Given the description of an element on the screen output the (x, y) to click on. 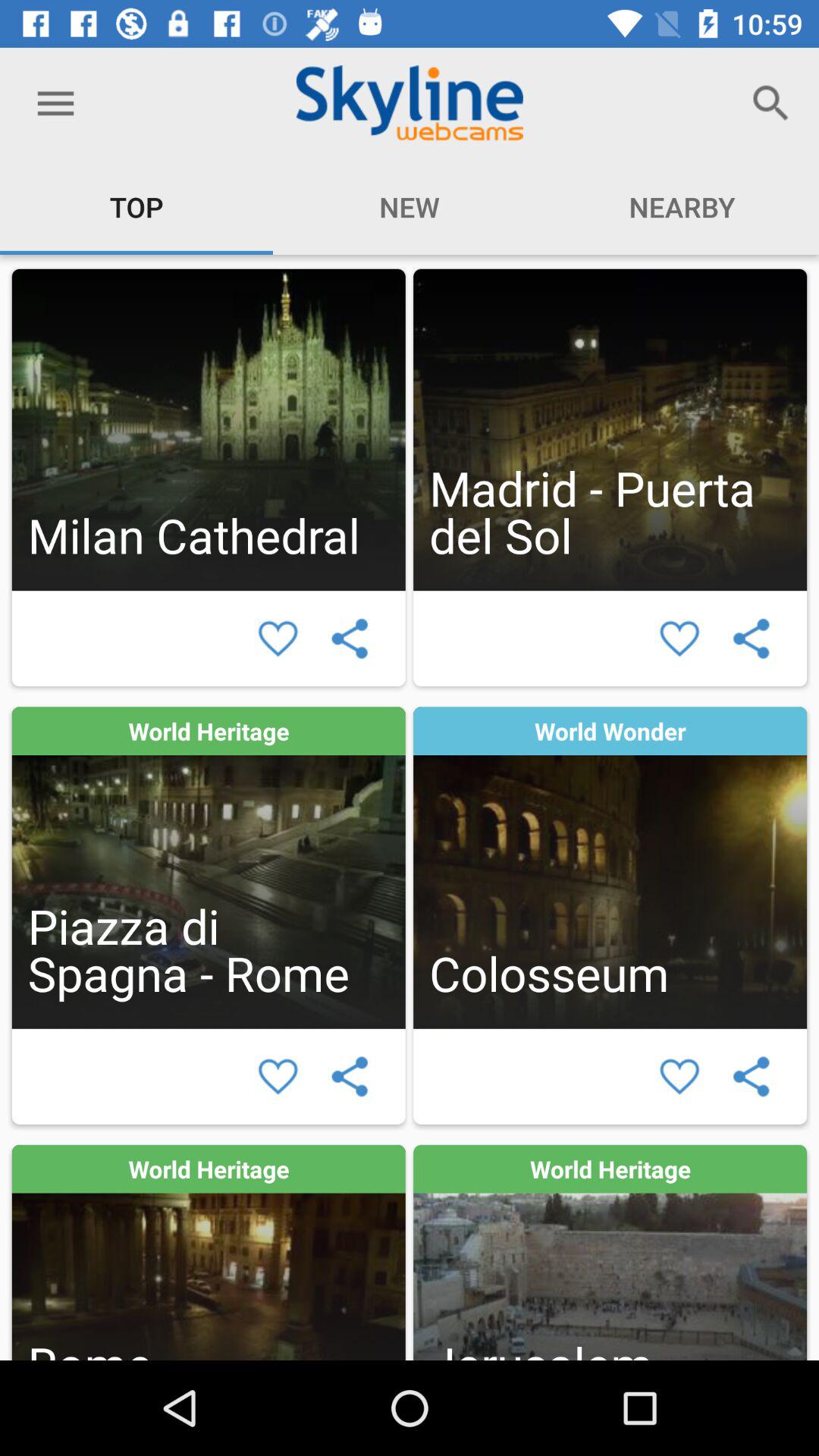
like/favorite toggle (278, 638)
